Given the description of an element on the screen output the (x, y) to click on. 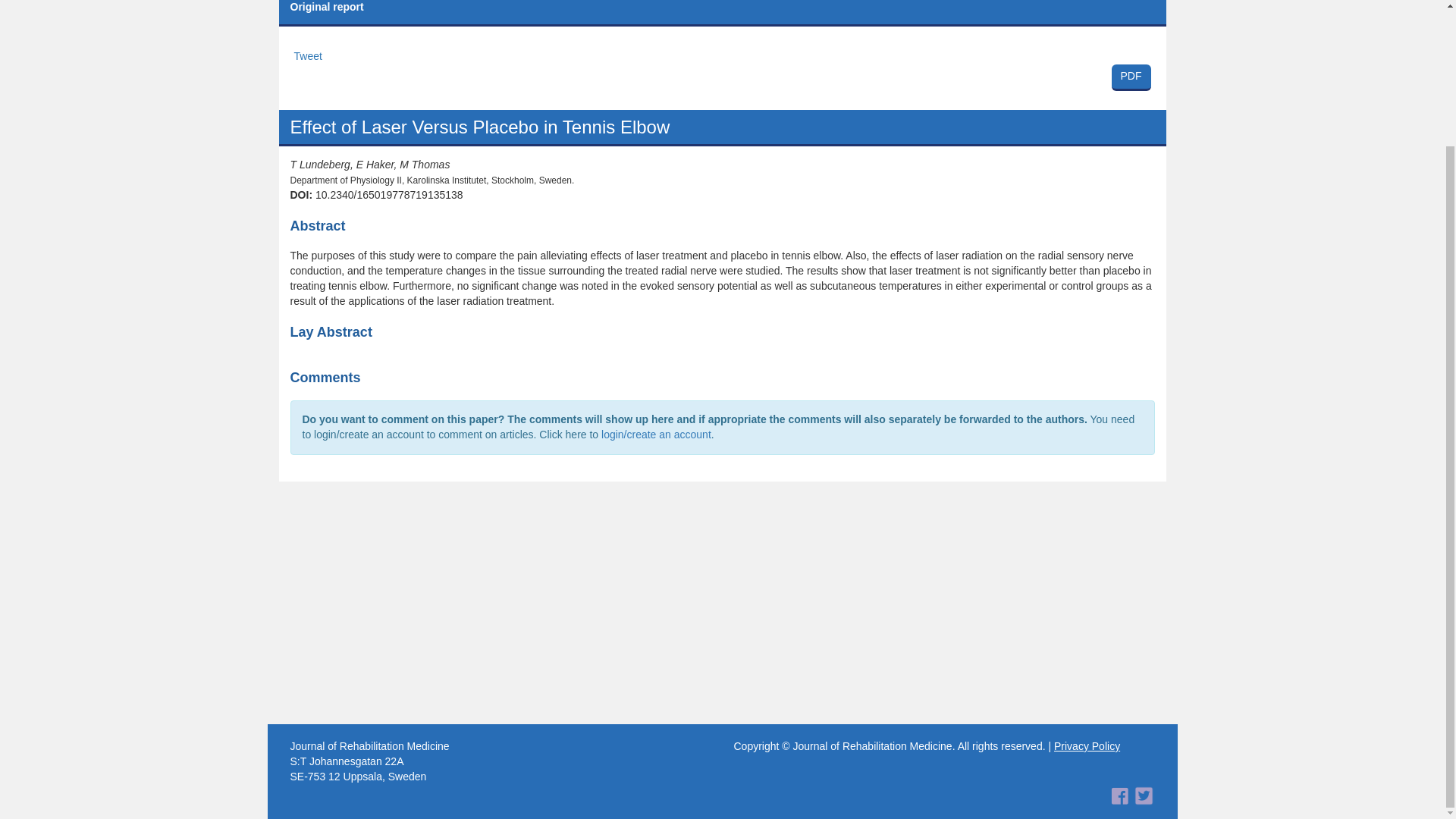
Tweet (722, 75)
Privacy Policy (307, 55)
Advertisement (1086, 746)
